Given the description of an element on the screen output the (x, y) to click on. 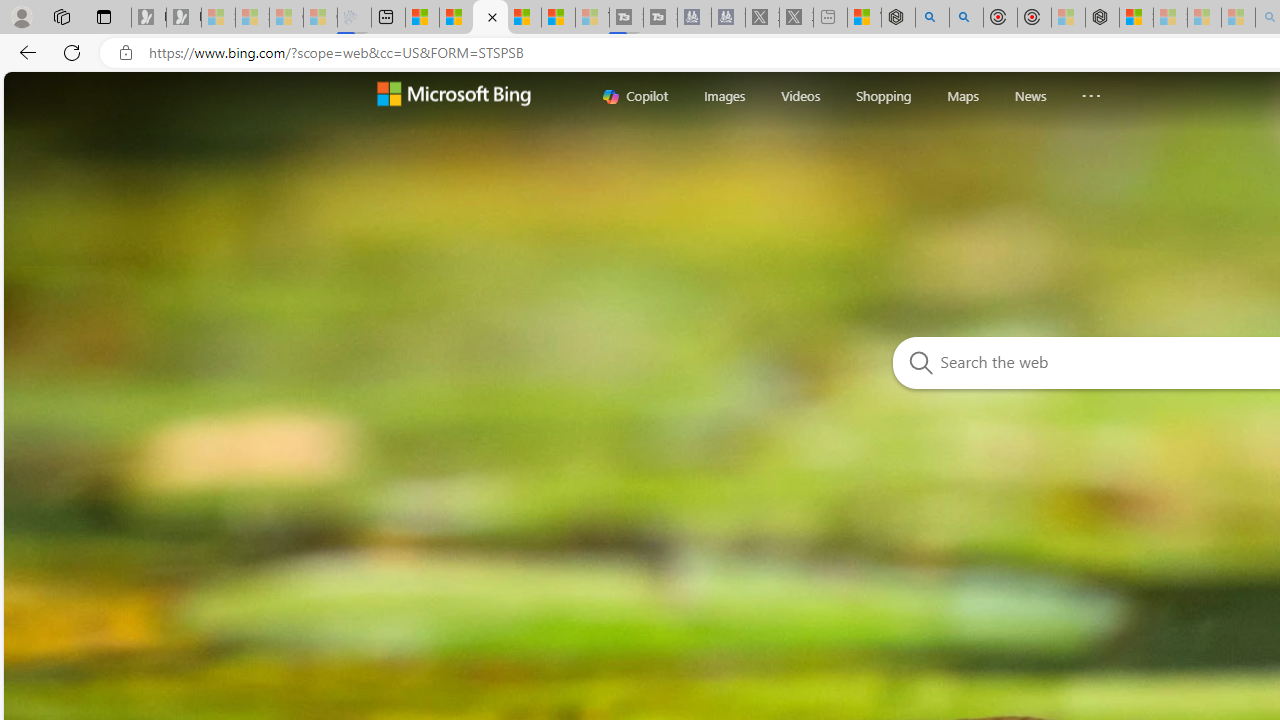
X - Sleeping (795, 17)
poe - Search (932, 17)
Shopping (883, 95)
Bing (489, 17)
Welcome to Bing Search (452, 96)
poe ++ standard - Search (966, 17)
News (1030, 95)
View site information (125, 53)
News (1030, 95)
